Given the description of an element on the screen output the (x, y) to click on. 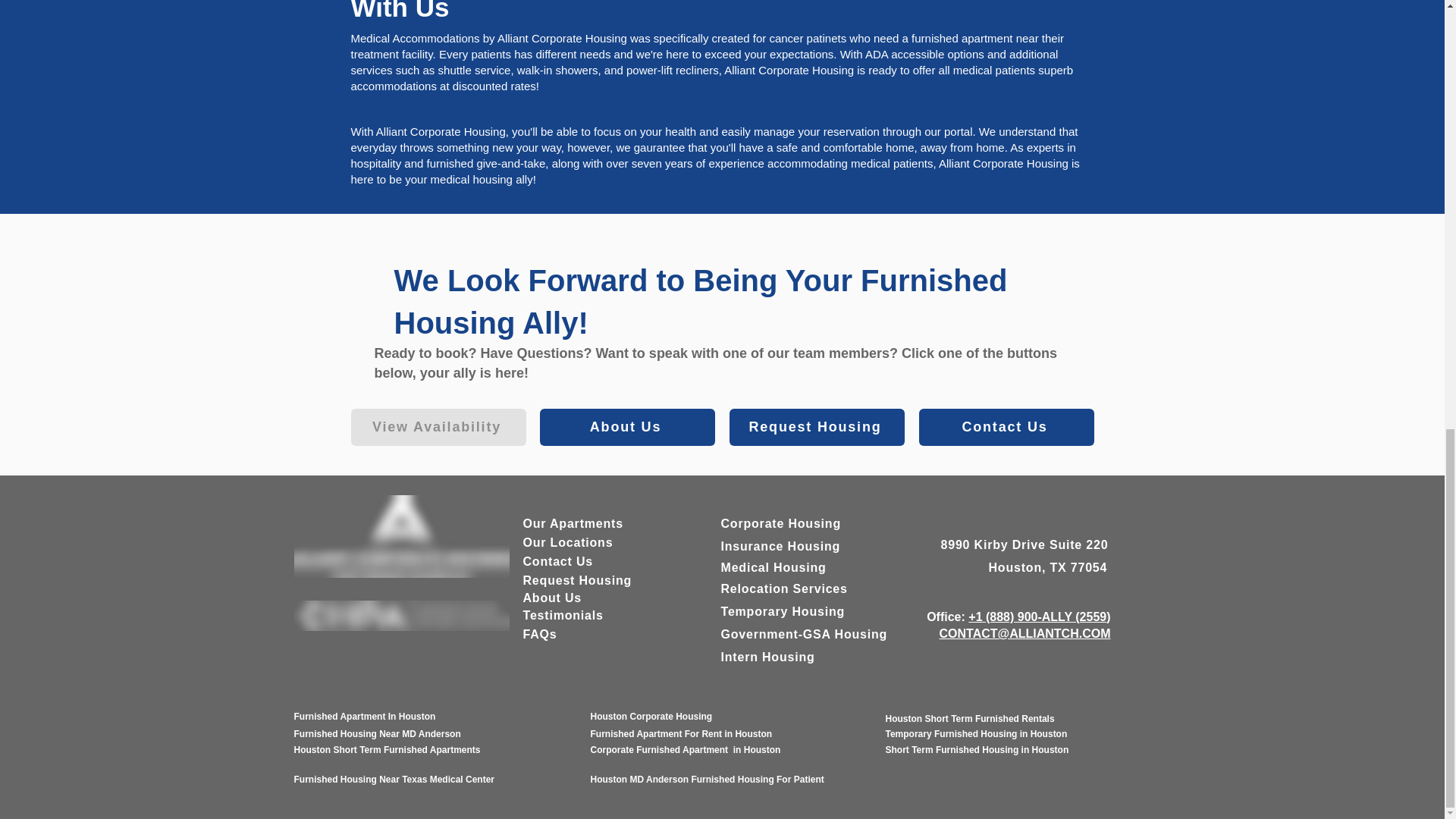
FAQs (539, 634)
Furnished Apartment For Rent in Houston  (681, 733)
Furnished Housing Near Texas Medical Center (394, 778)
About Us (627, 426)
Intern Housing (766, 656)
Our Locations (567, 542)
Furnished Housing Near MD Anderson (377, 733)
Temporary Housing (782, 611)
Houston Corporate Housing (650, 716)
Relocation Services (783, 588)
Request Housing (816, 426)
Contact Us (557, 561)
Furnished Apartment In Houston (364, 716)
Houston Short Term Furnished Rentals (969, 718)
About Us (552, 597)
